Given the description of an element on the screen output the (x, y) to click on. 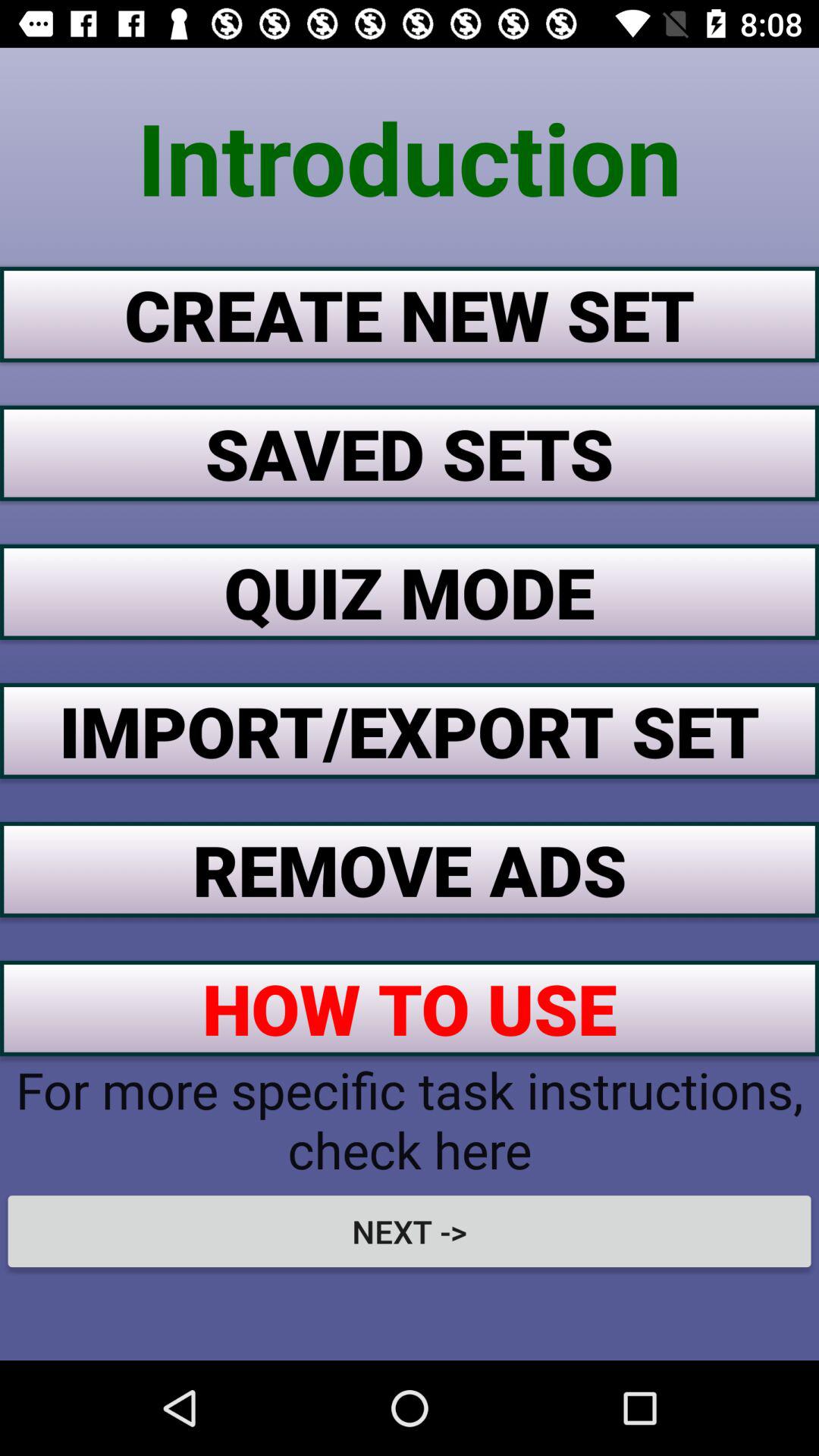
press item below import/export set item (409, 869)
